Given the description of an element on the screen output the (x, y) to click on. 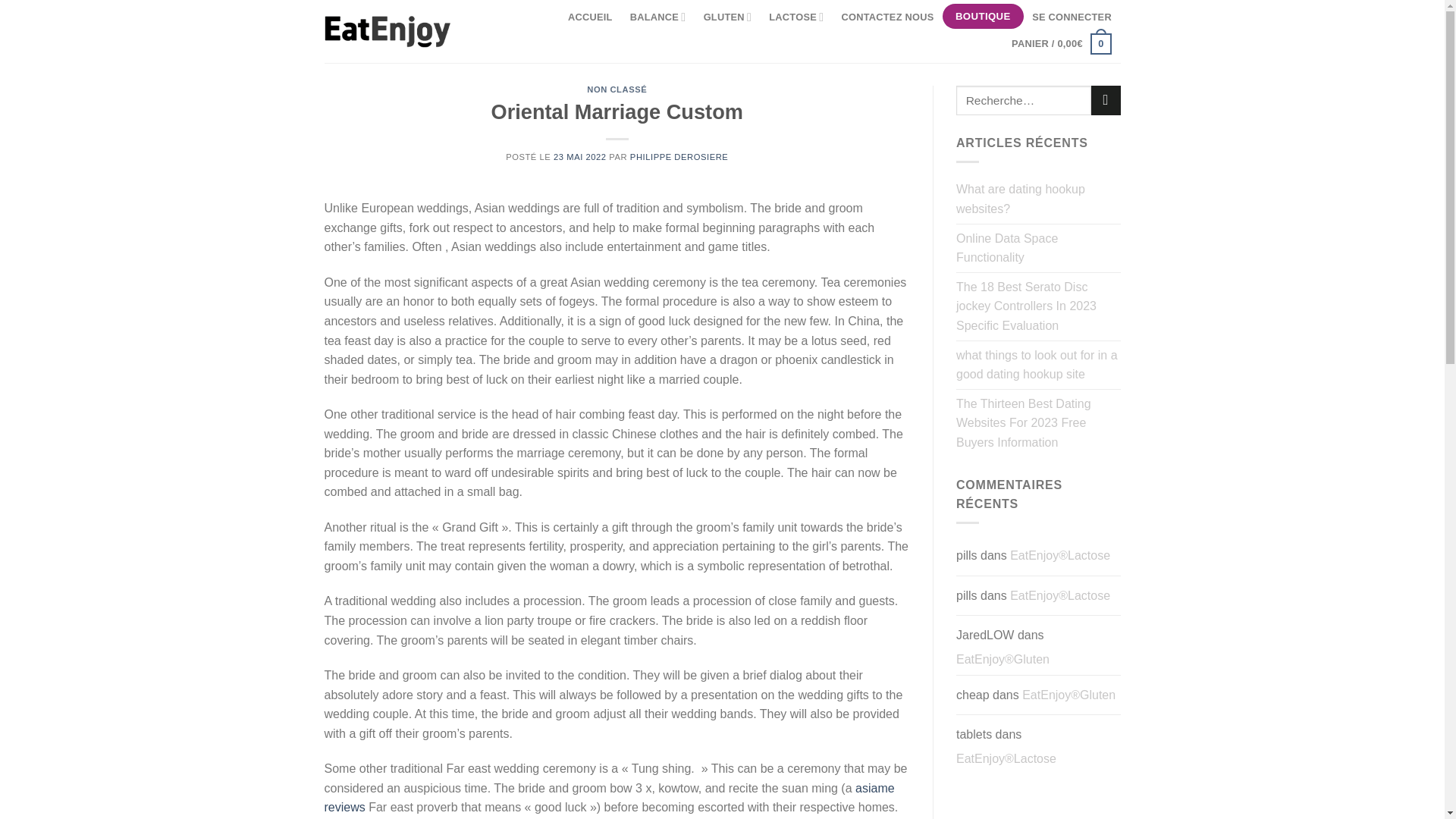
what things to look out for in a good dating hookup site (1038, 365)
ACCUEIL (590, 17)
PHILIPPE DEROSIERE (679, 156)
23 MAI 2022 (580, 156)
BALANCE (657, 16)
asiame reviews (609, 798)
SE CONNECTER (1072, 17)
Online Data Space Functionality (1038, 247)
GLUTEN (727, 16)
CONTACTEZ NOUS (887, 17)
Eat Enjoy - Enzymes digestives pour une digestion saine (387, 31)
What are dating hookup websites? (1038, 198)
BOUTIQUE (982, 16)
Panier (1061, 43)
